Given the description of an element on the screen output the (x, y) to click on. 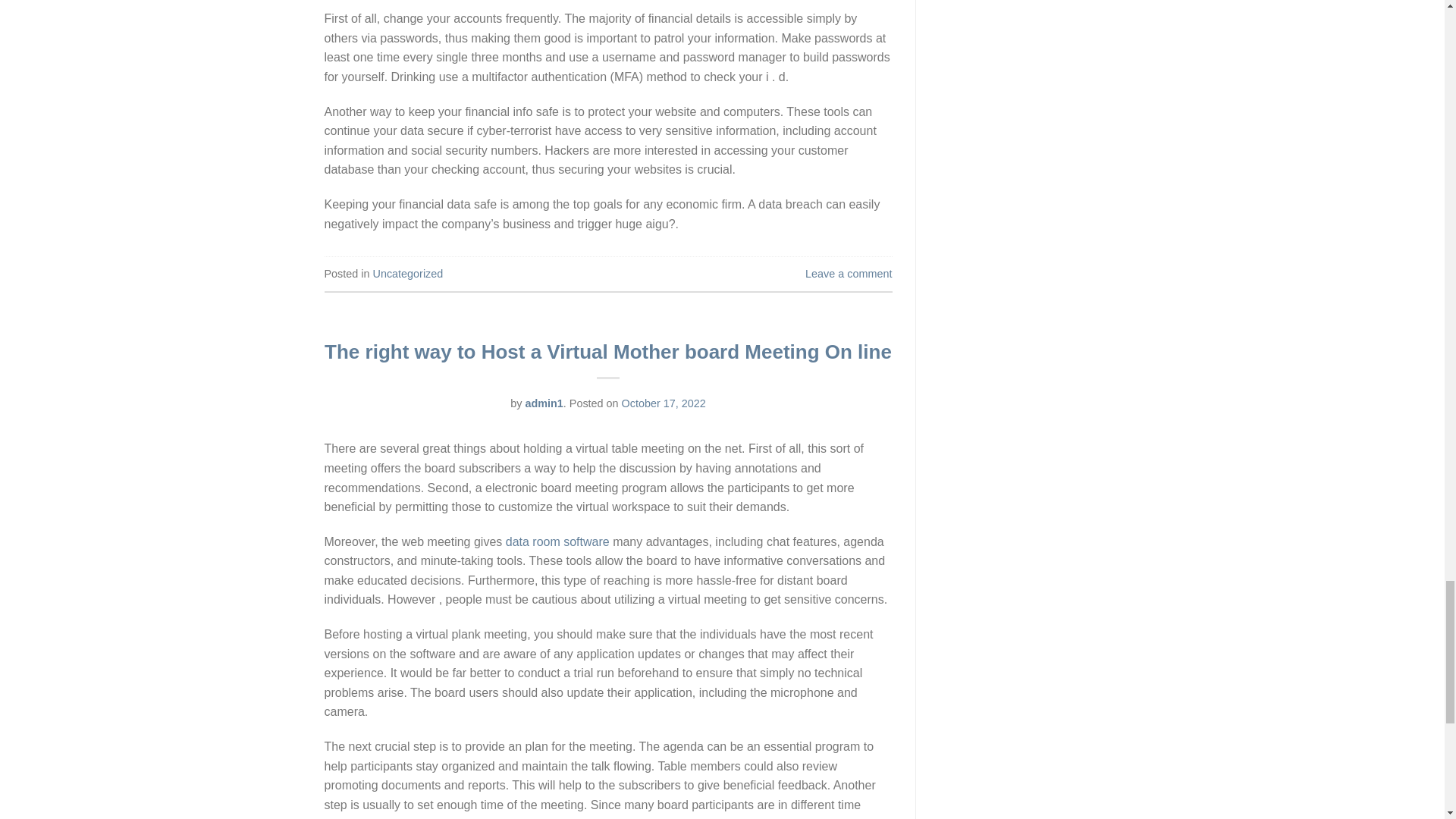
View all posts by admin1 (543, 403)
data room software (557, 541)
October 17, 2022 (663, 403)
admin1 (543, 403)
The right way to Host a Virtual Mother board Meeting On line (607, 351)
12:00 am (663, 403)
Uncategorized (408, 273)
Leave a comment (848, 273)
